Given the description of an element on the screen output the (x, y) to click on. 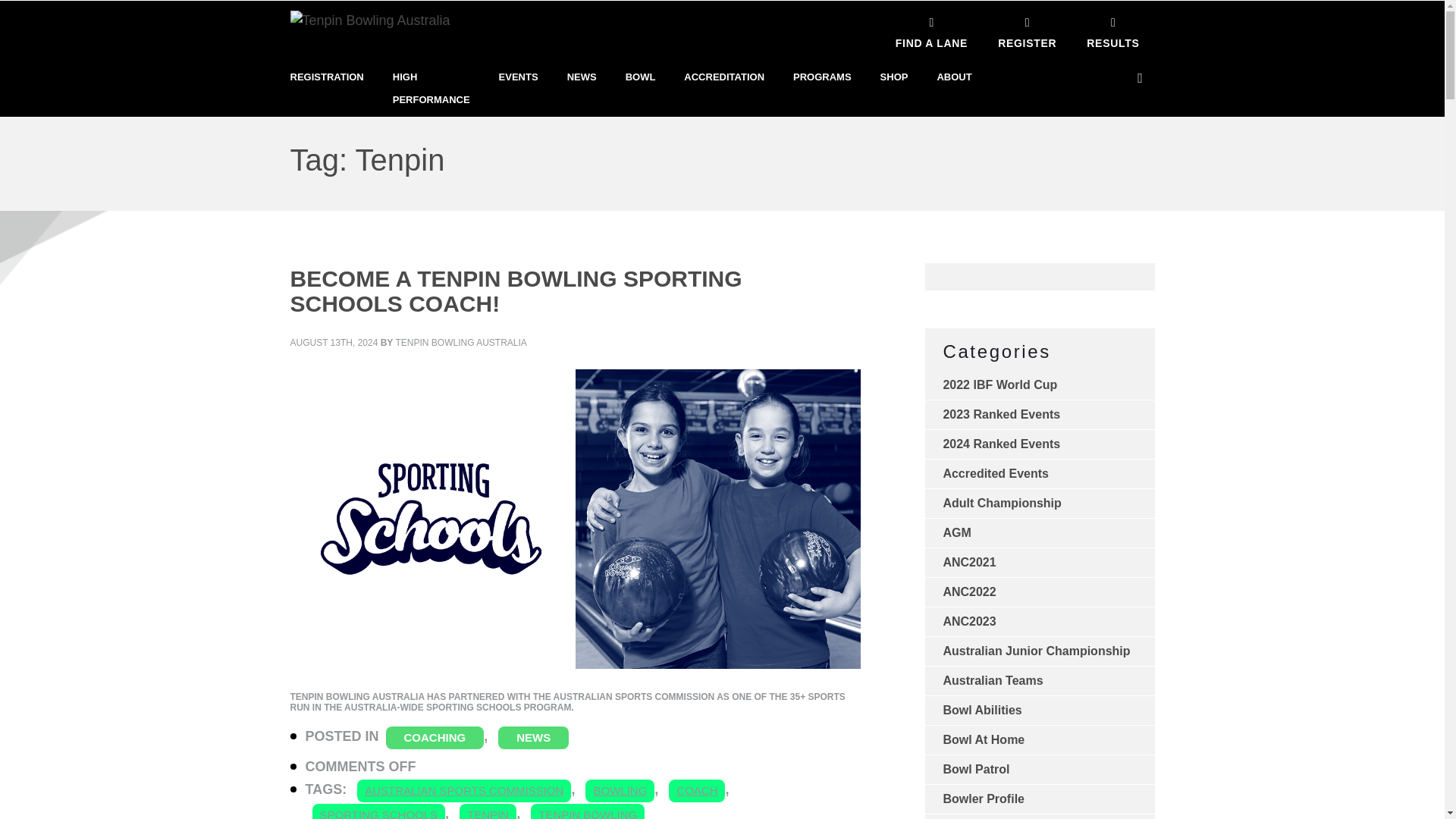
BOWL (641, 77)
REGISTRATION (325, 77)
HIGH PERFORMANCE (431, 88)
RESULTS (1112, 30)
EVENTS (518, 77)
FIND A LANE (931, 30)
REGISTER (1026, 30)
